Given the description of an element on the screen output the (x, y) to click on. 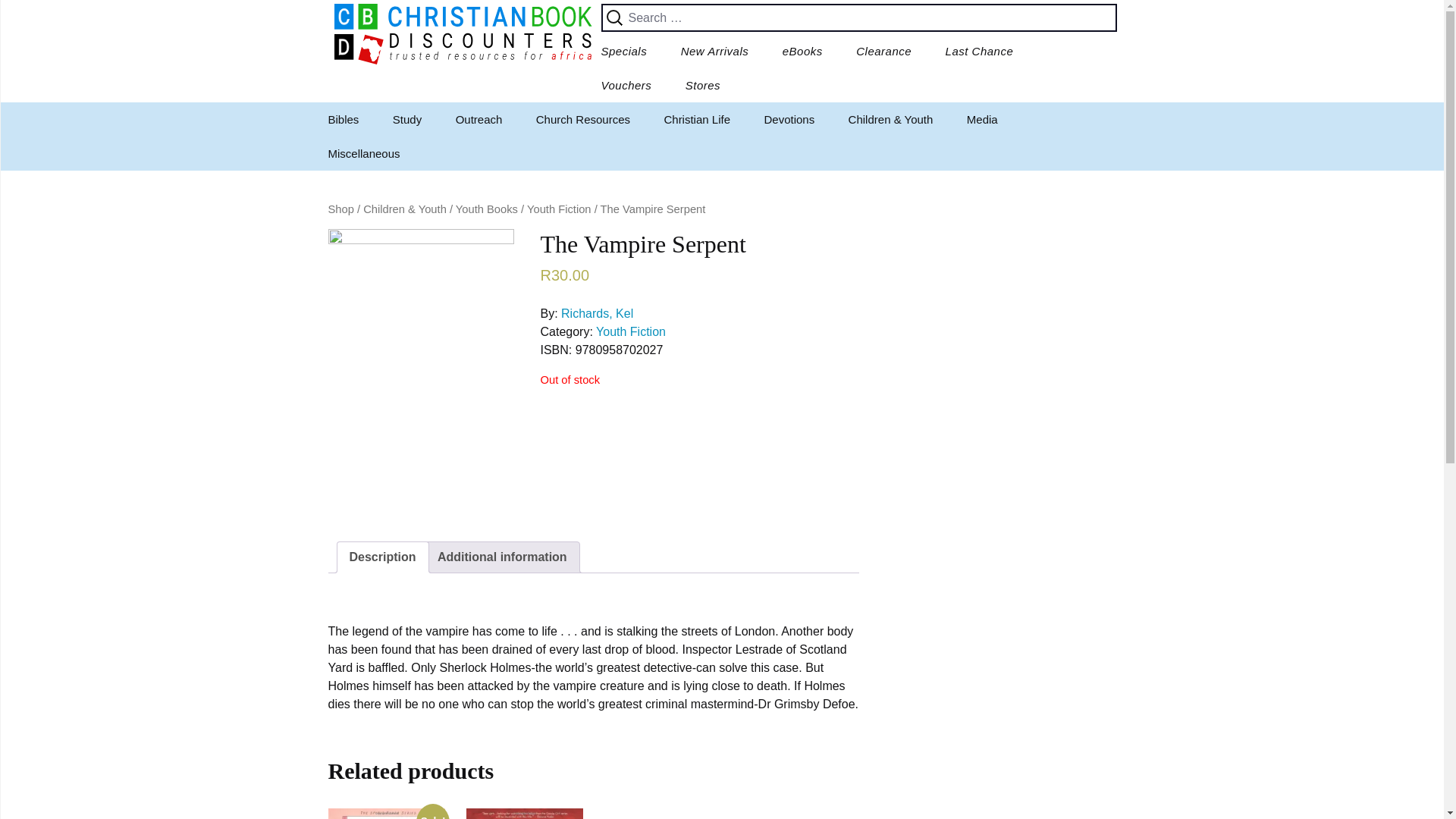
Christian Book Discounters (463, 34)
Stores (702, 84)
Search (37, 15)
Specials (623, 50)
New Arrivals (714, 50)
Bibles (343, 119)
Vouchers (625, 84)
eBooks (802, 50)
Last Chance (979, 50)
